Given the description of an element on the screen output the (x, y) to click on. 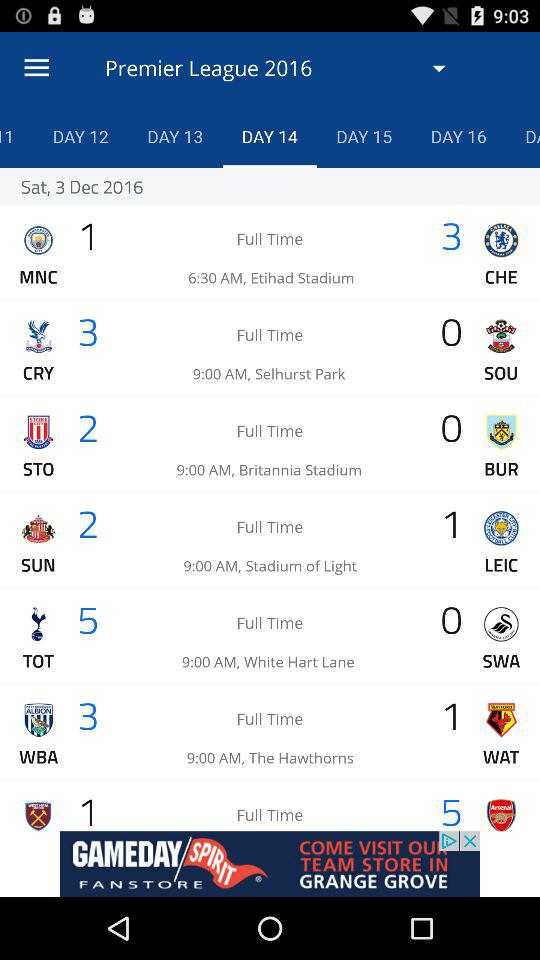
so the advertisement (270, 864)
